Given the description of an element on the screen output the (x, y) to click on. 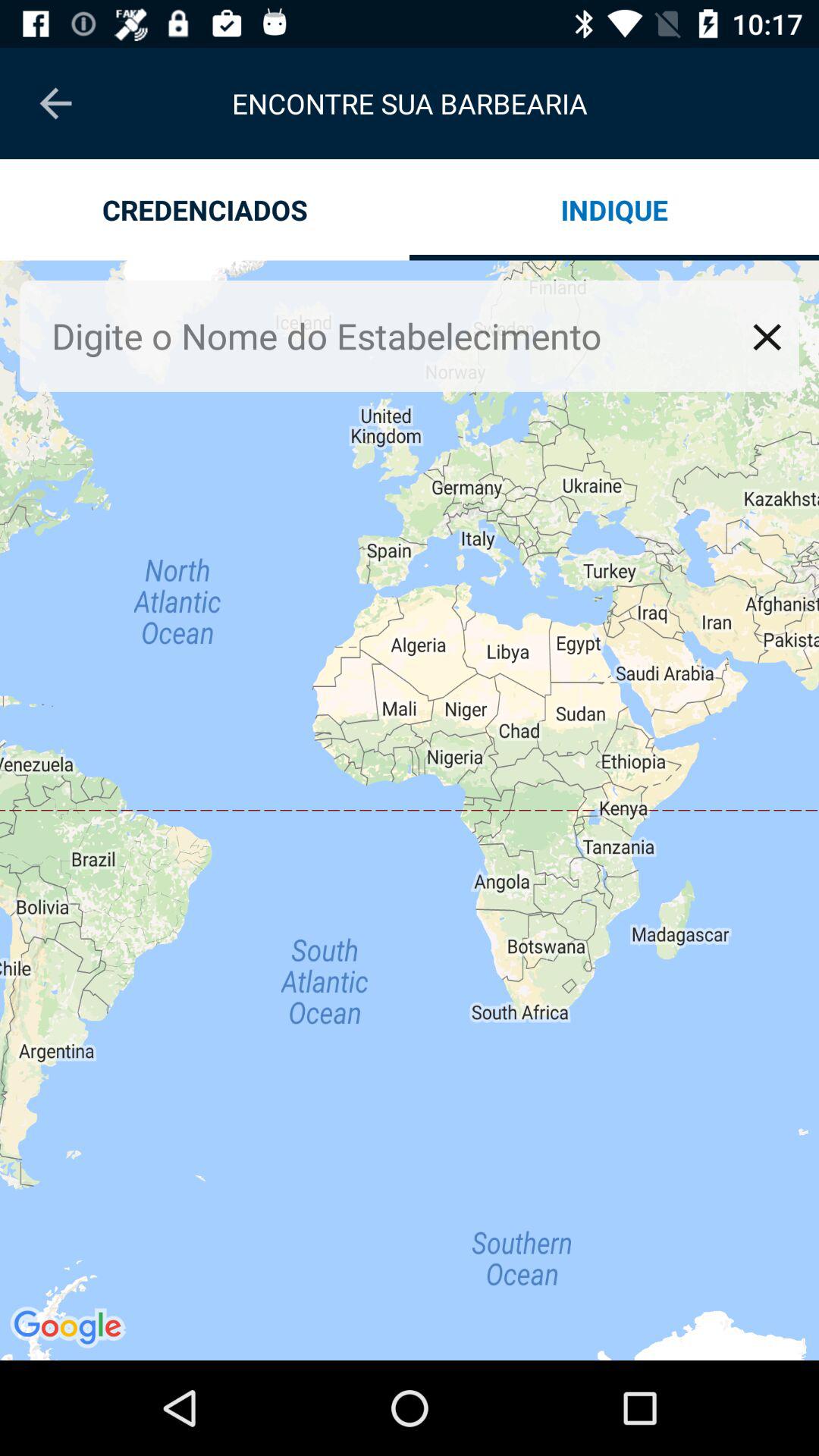
cancel entered (767, 337)
